Given the description of an element on the screen output the (x, y) to click on. 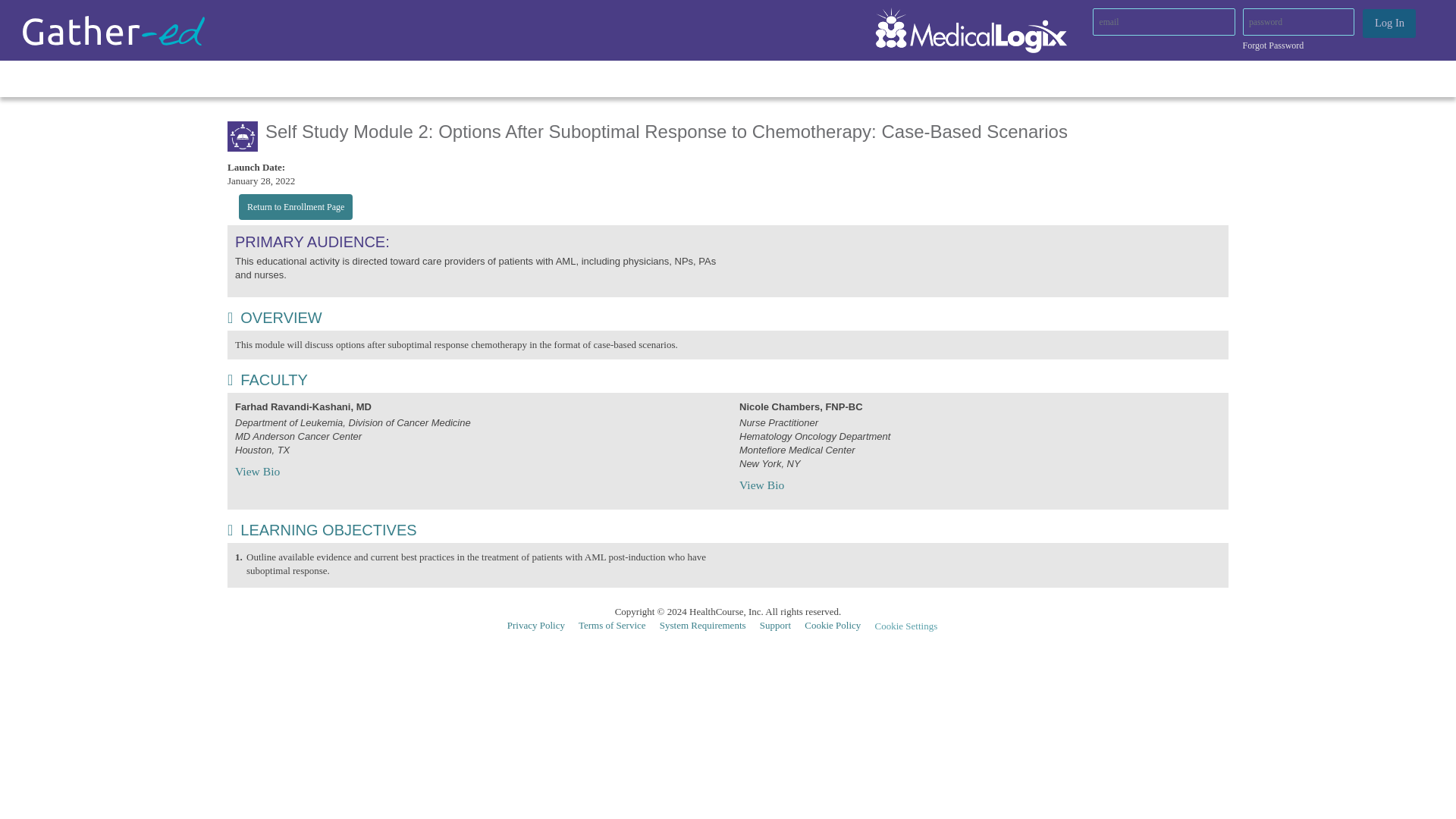
Log In (1388, 23)
Privacy Policy (541, 624)
Terms of Service (618, 624)
View Bio (761, 484)
Log In (1388, 23)
System Requirements (708, 624)
Cookie Policy (838, 624)
OVERVIEW (274, 317)
Return to Enrollment Page (295, 207)
Cookie Settings (912, 626)
View Bio (256, 471)
FACULTY (267, 379)
Support (781, 624)
Gather-ed (114, 30)
LEARNING OBJECTIVES (321, 529)
